Given the description of an element on the screen output the (x, y) to click on. 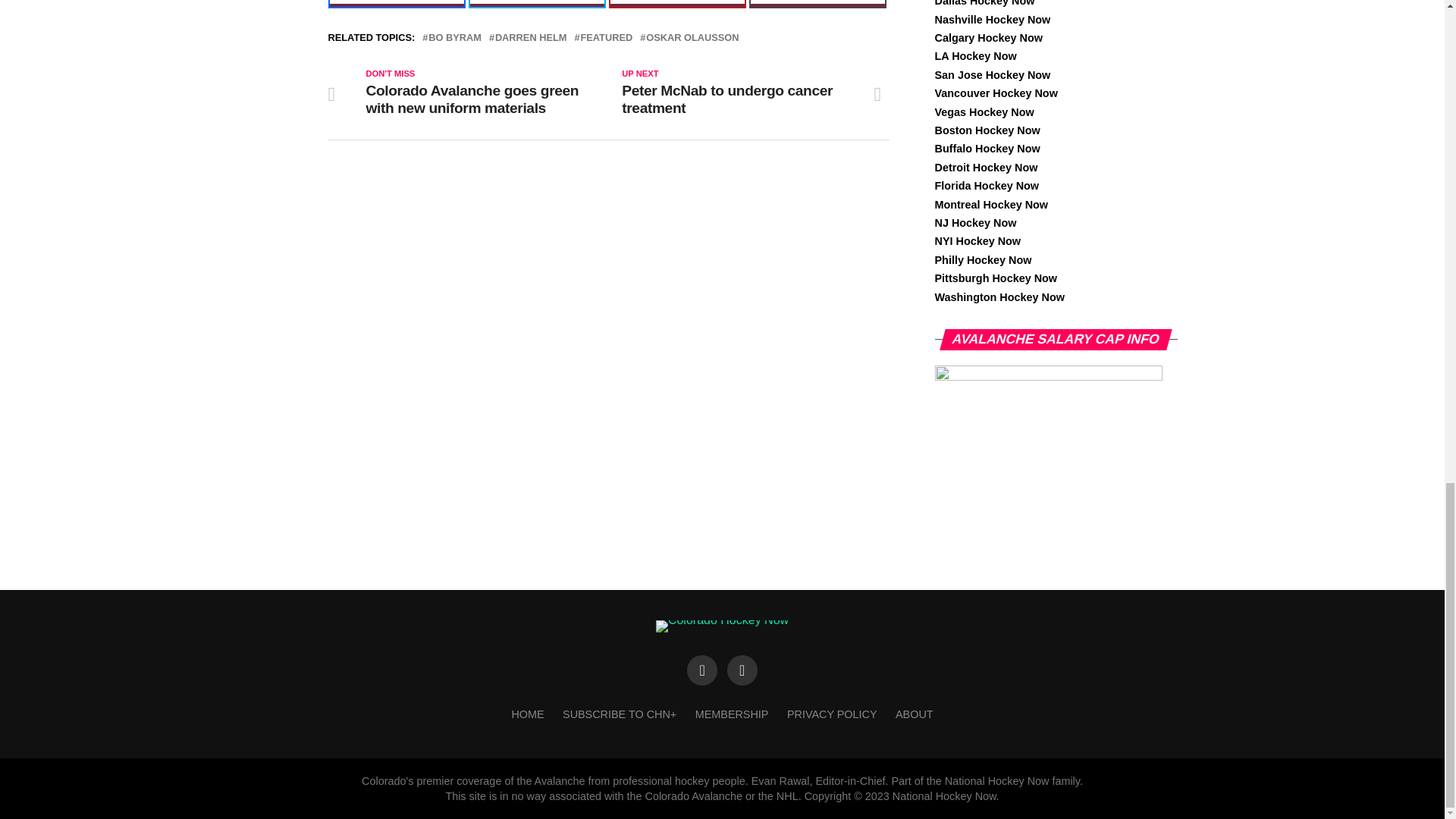
Share on Flipboard (676, 4)
Share on Comment (817, 4)
Share on Share (395, 4)
Share on Tweet (536, 4)
